Given the description of an element on the screen output the (x, y) to click on. 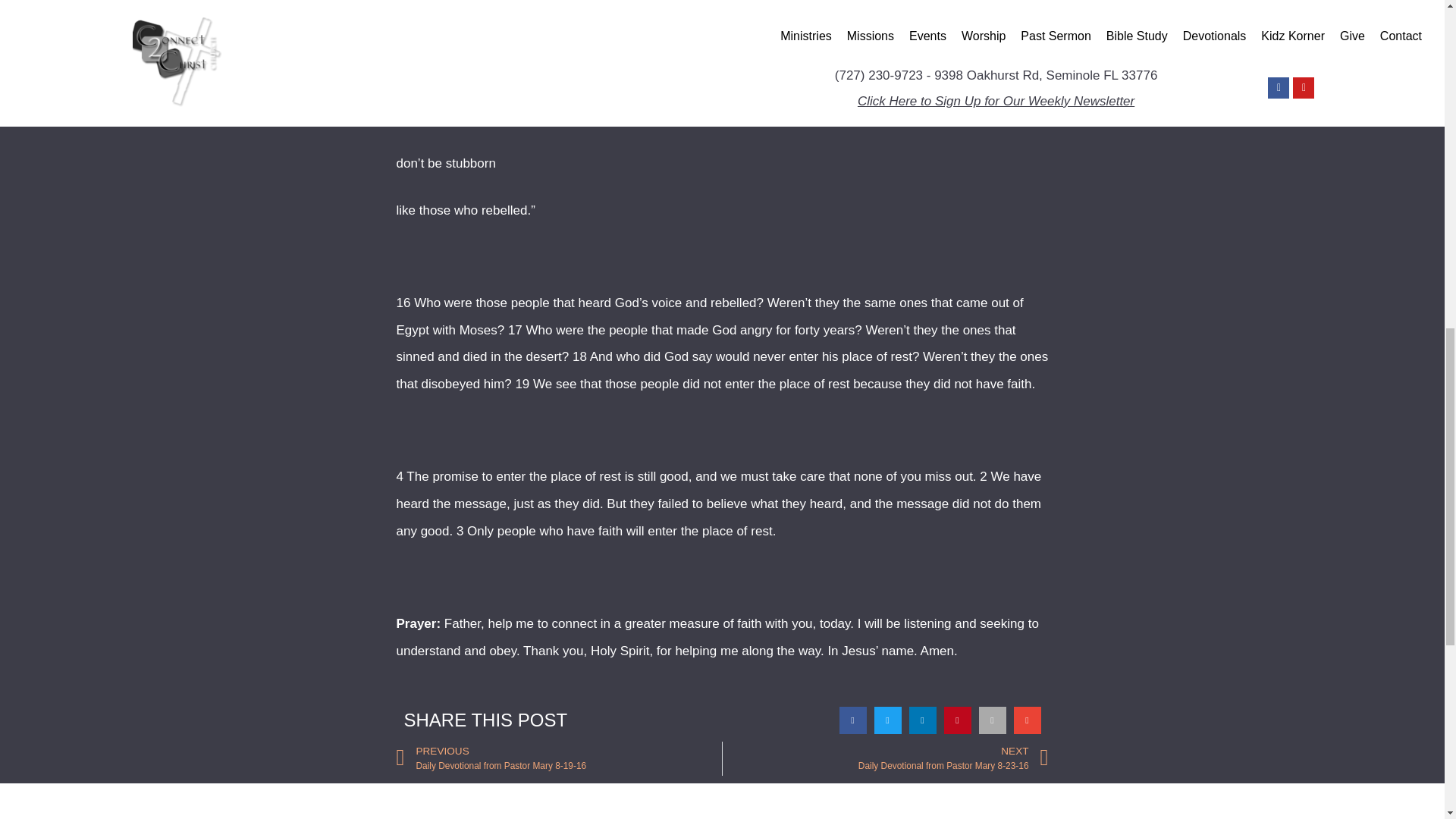
Scroll back to top (1406, 720)
